Given the description of an element on the screen output the (x, y) to click on. 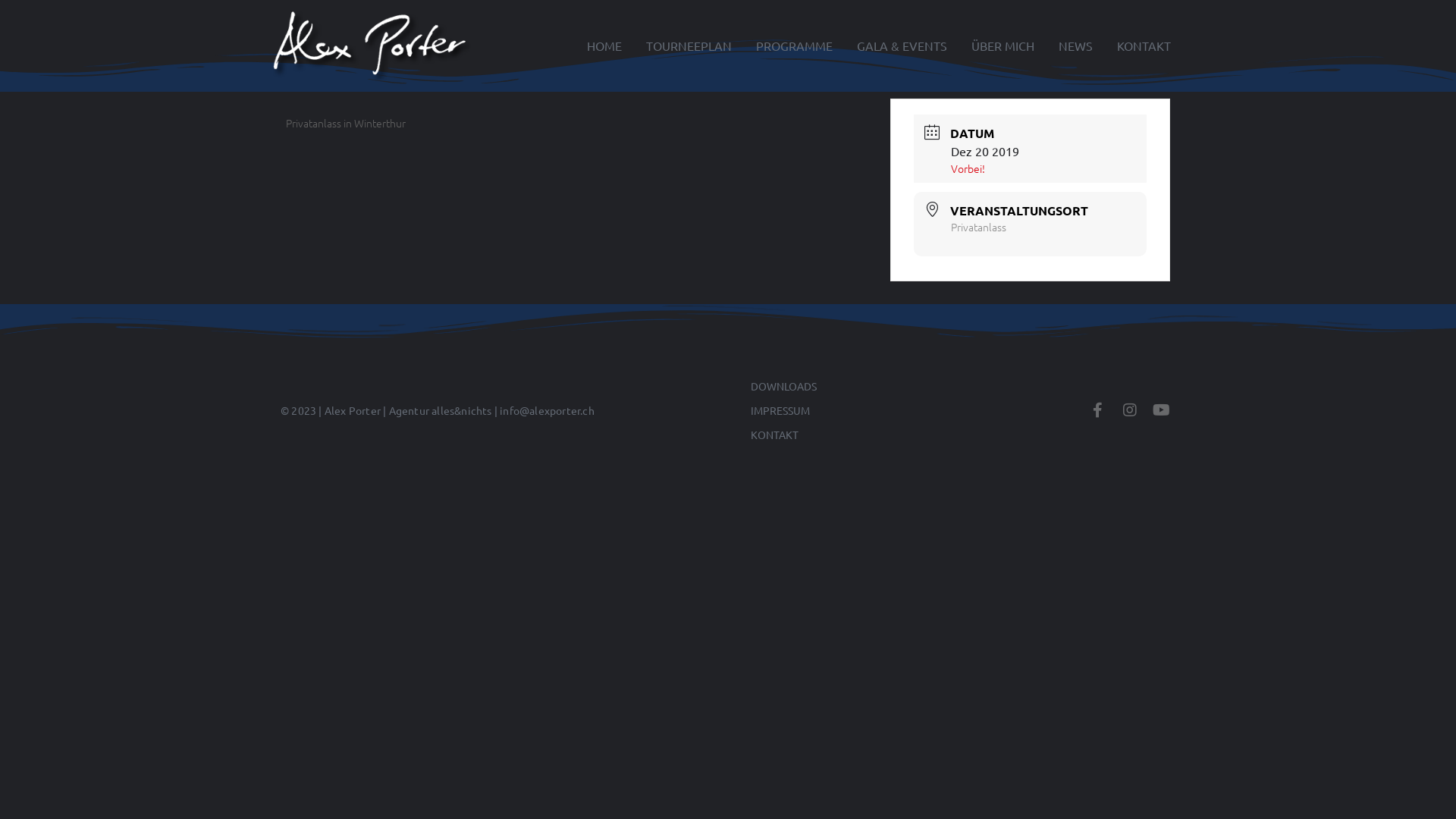
IMPRESSUM Element type: text (864, 410)
info@alexporter.ch Element type: text (546, 410)
KONTAKT Element type: text (864, 434)
NEWS Element type: text (1075, 45)
KONTAKT Element type: text (1143, 45)
TOURNEEPLAN Element type: text (688, 45)
GALA & EVENTS Element type: text (901, 45)
HOME Element type: text (603, 45)
DOWNLOADS Element type: text (864, 385)
PROGRAMME Element type: text (793, 45)
